Given the description of an element on the screen output the (x, y) to click on. 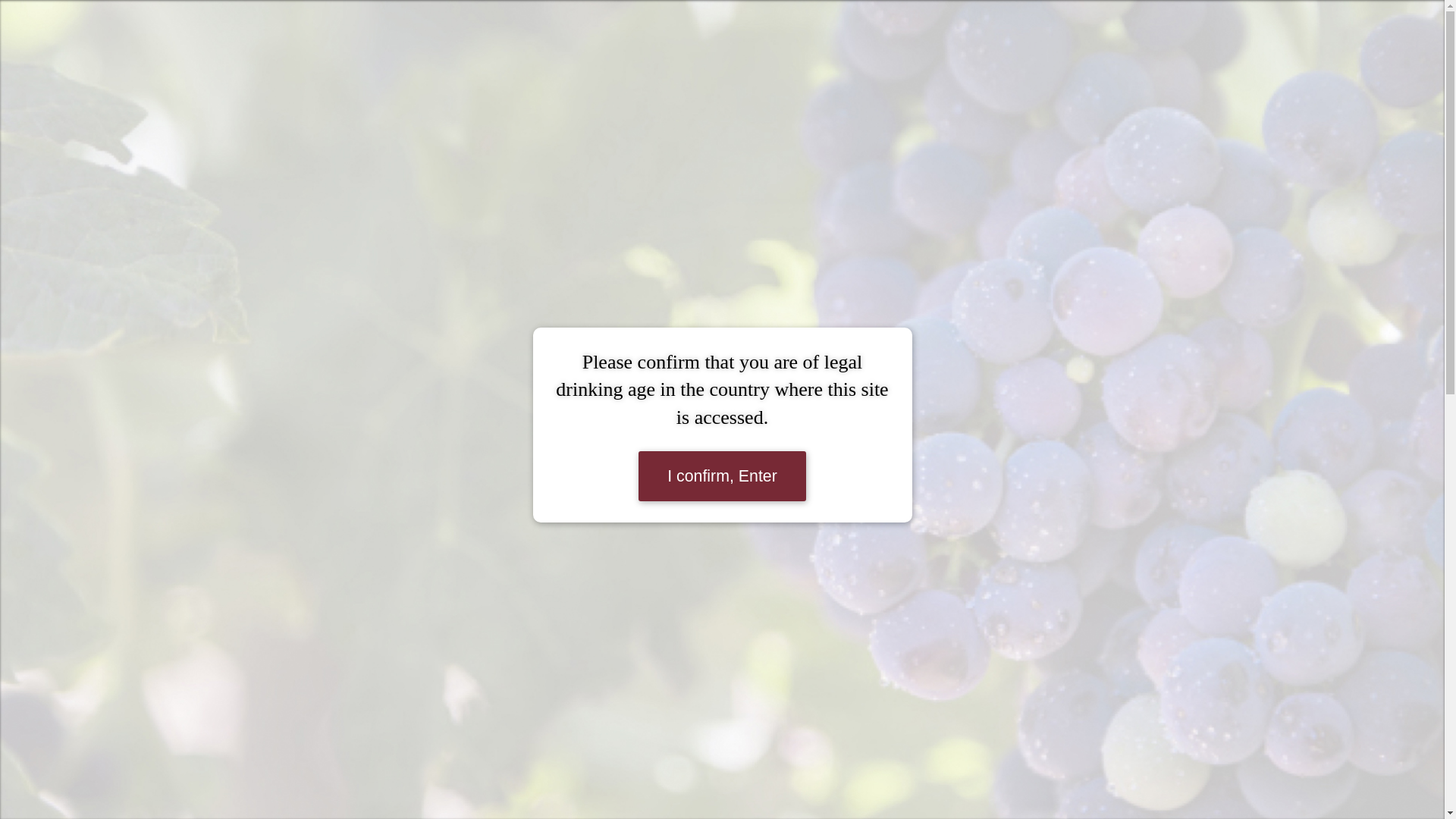
Back (321, 148)
Distributors (882, 34)
Top grapes (553, 34)
Distributors (882, 34)
Back (321, 148)
Top grapes (553, 34)
I confirm, Enter (722, 476)
